Given the description of an element on the screen output the (x, y) to click on. 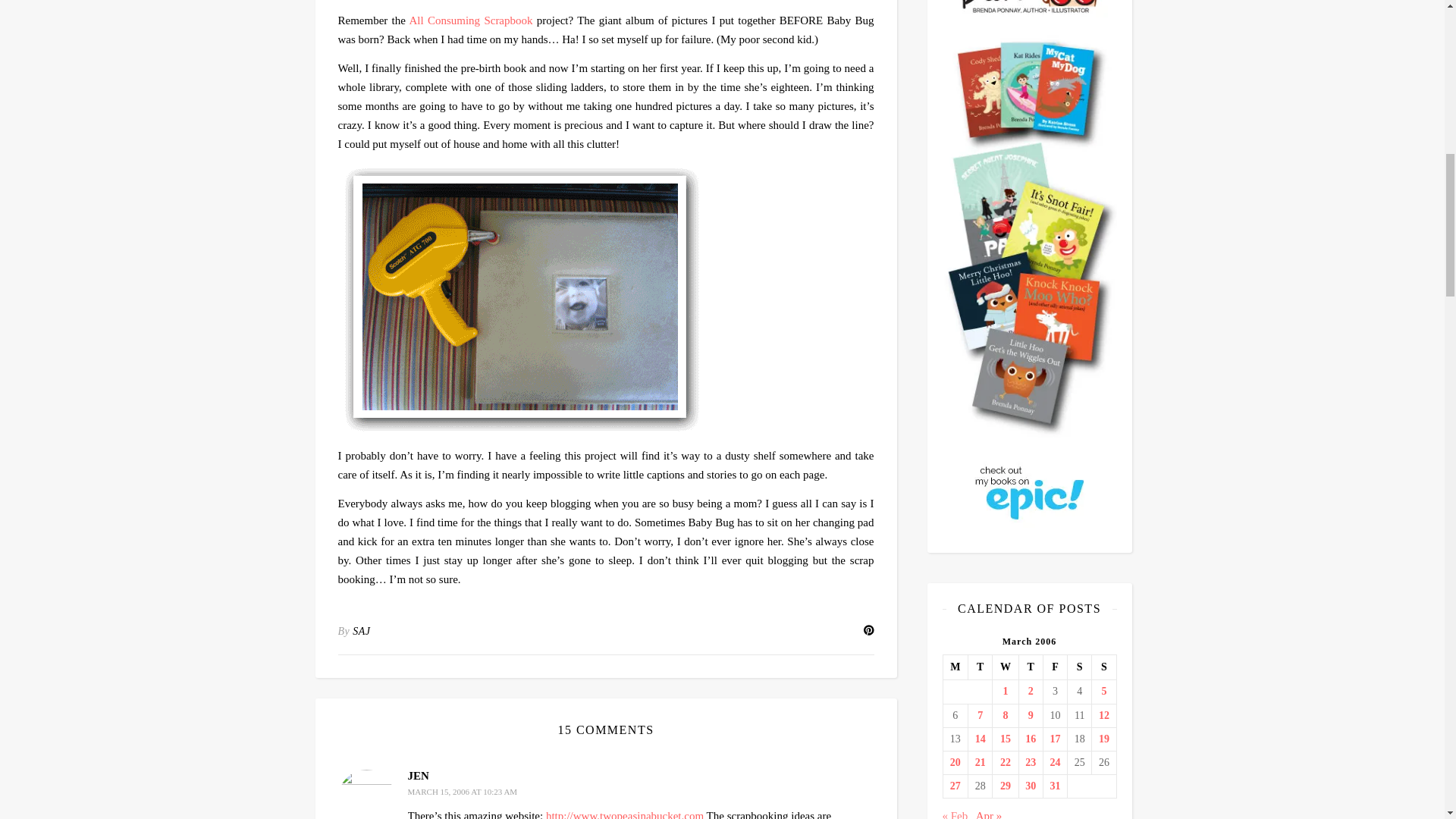
Friday (1054, 667)
All Consuming Scrapbook (470, 19)
Wednesday (1004, 667)
Saturday (1079, 667)
Sunday (1104, 667)
Thursday (1029, 667)
Monday (955, 667)
MARCH 15, 2006 AT 10:23 AM (462, 791)
Tuesday (980, 667)
